Given the description of an element on the screen output the (x, y) to click on. 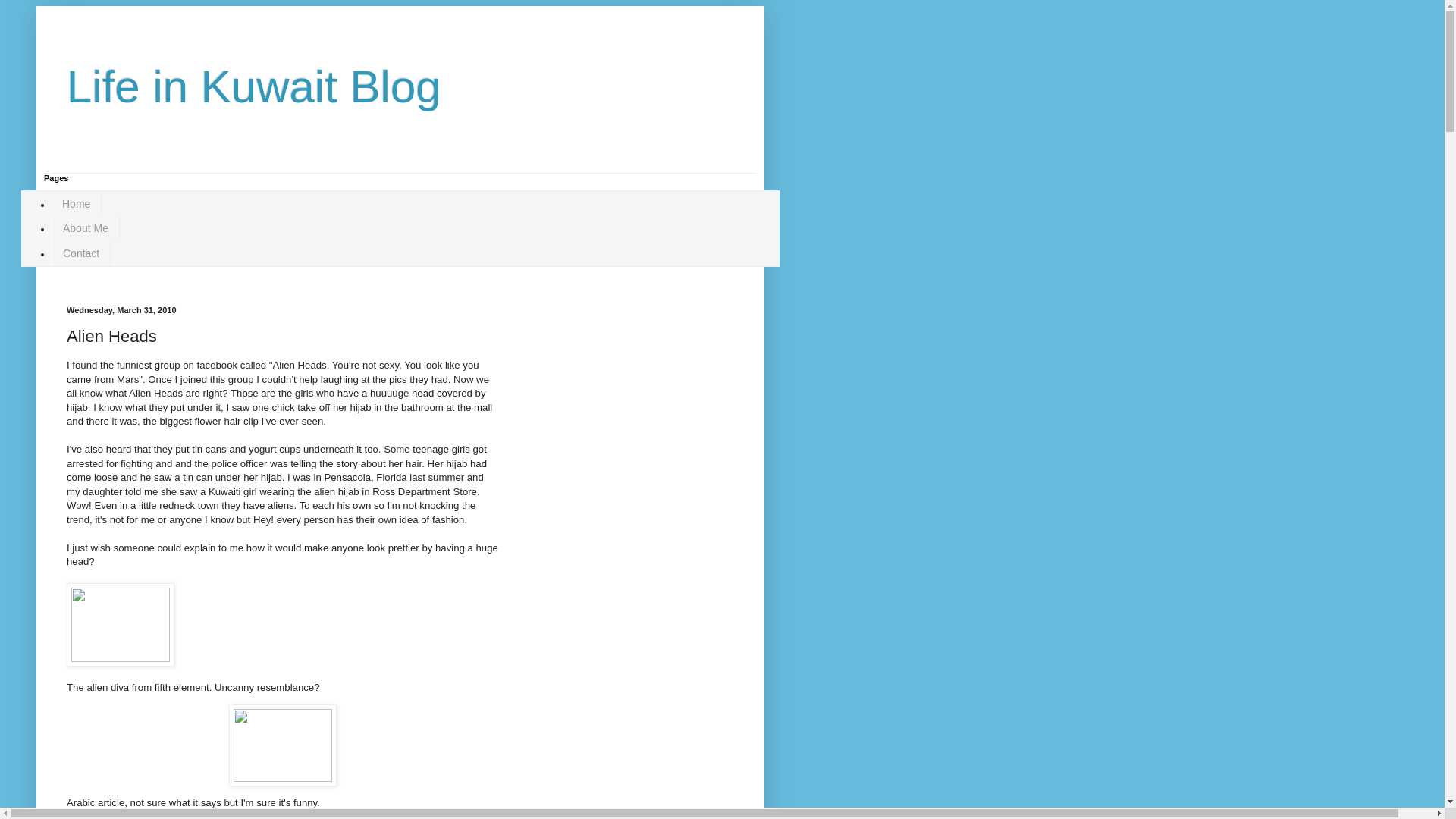
About Me (84, 228)
Home (75, 203)
Contact (80, 253)
Life in Kuwait Blog (253, 86)
